Given the description of an element on the screen output the (x, y) to click on. 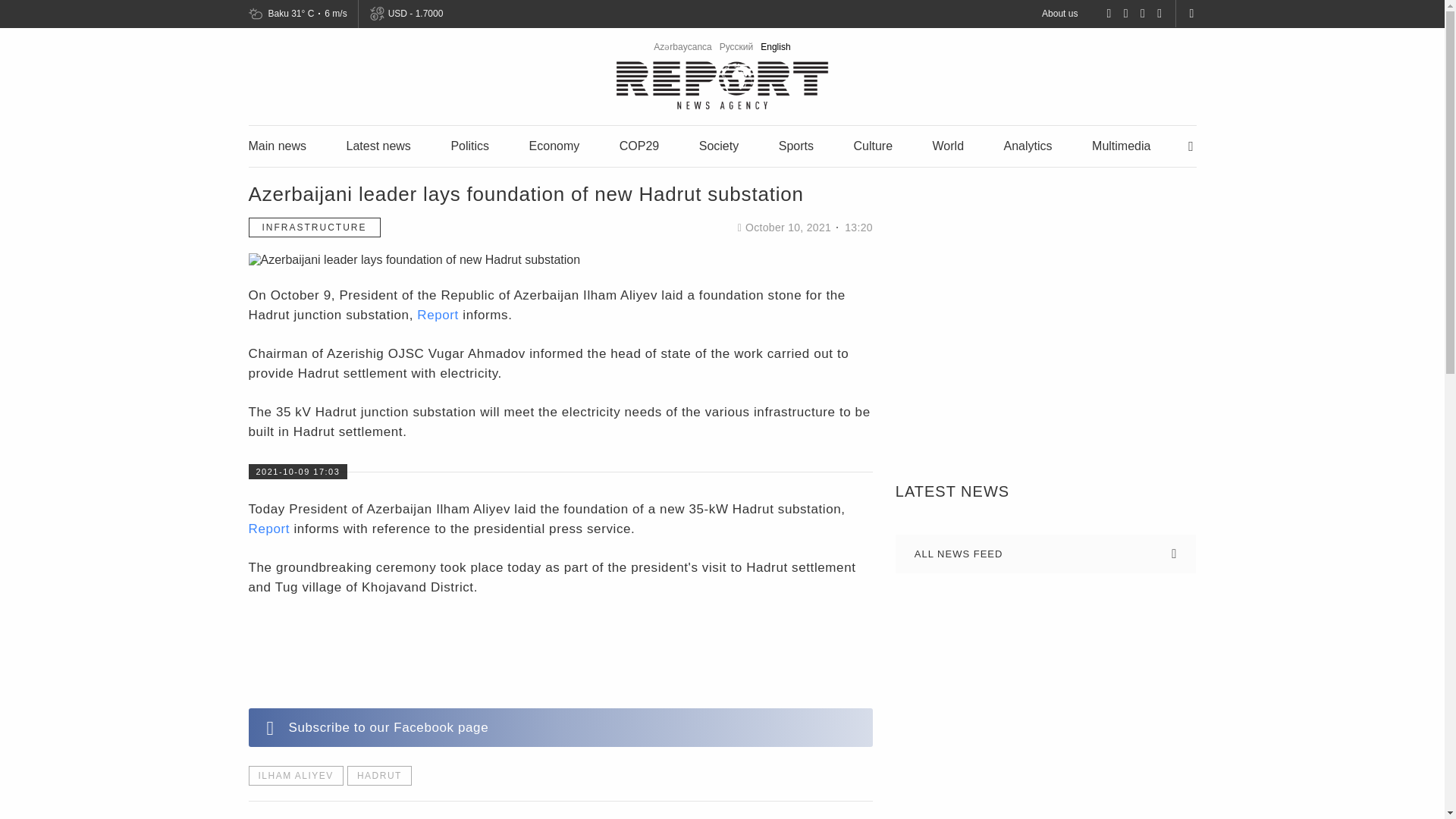
World (948, 145)
Main news (276, 145)
Sports (795, 145)
English (775, 46)
Azerbaijani leader lays foundation of new Hadrut substation (414, 259)
Society (718, 145)
Culture (872, 145)
COP29 (639, 145)
Analytics (1028, 145)
About us (1059, 13)
